Given the description of an element on the screen output the (x, y) to click on. 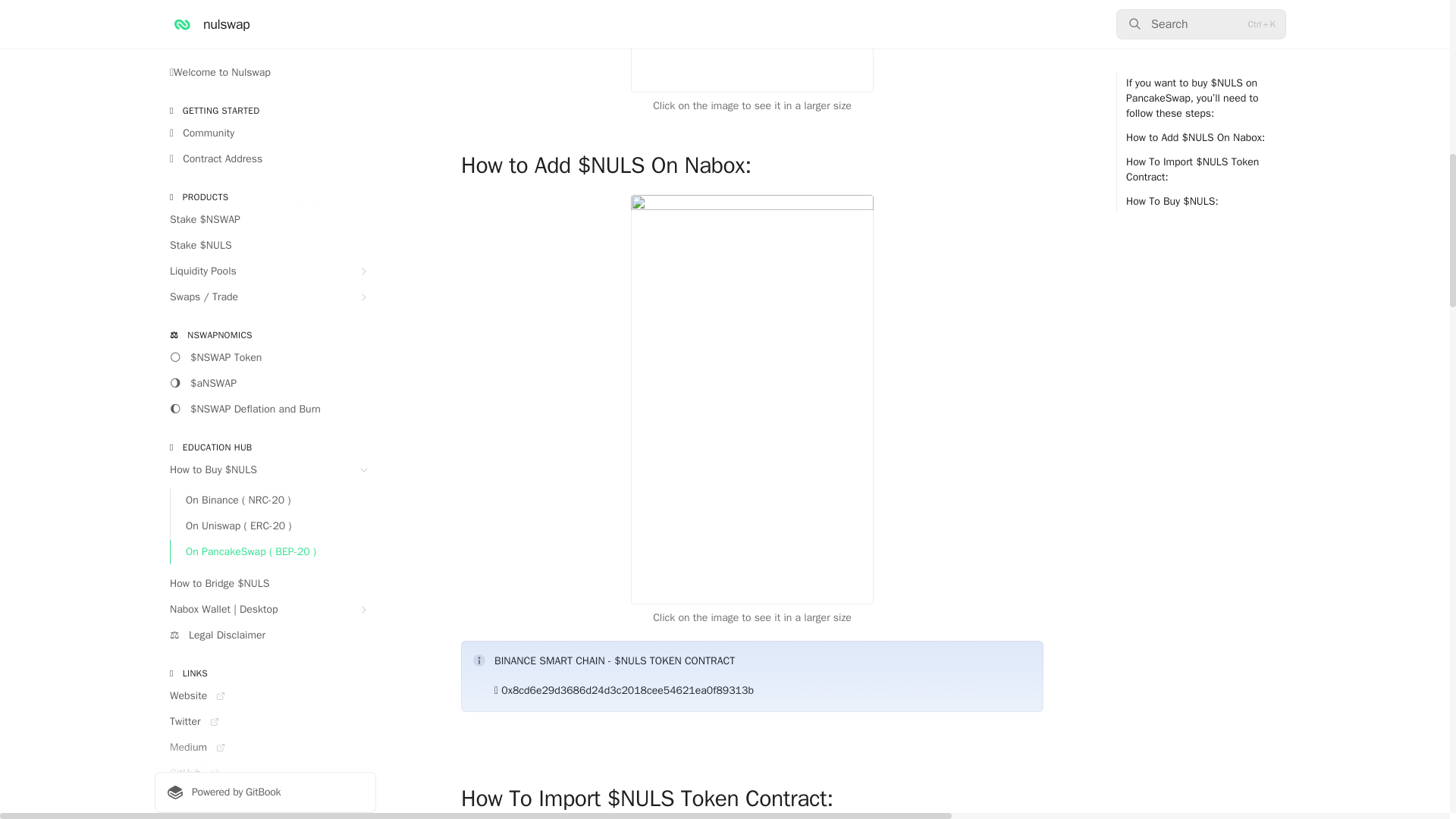
Telegram Community (264, 9)
Discord (264, 31)
